Given the description of an element on the screen output the (x, y) to click on. 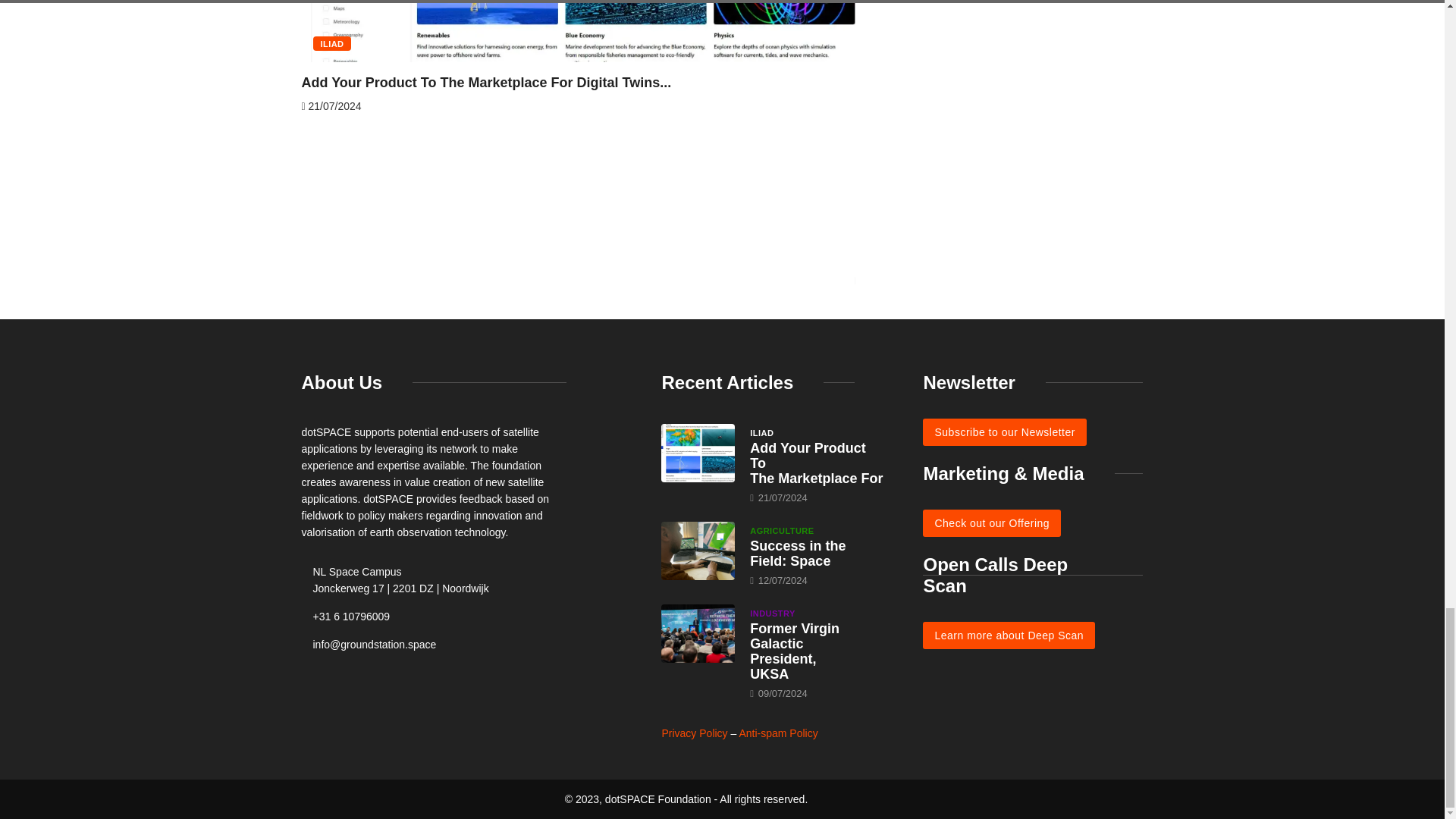
Add Your Product To The Marketplace For Digital Twins... (486, 82)
ILIAD (331, 43)
